Given the description of an element on the screen output the (x, y) to click on. 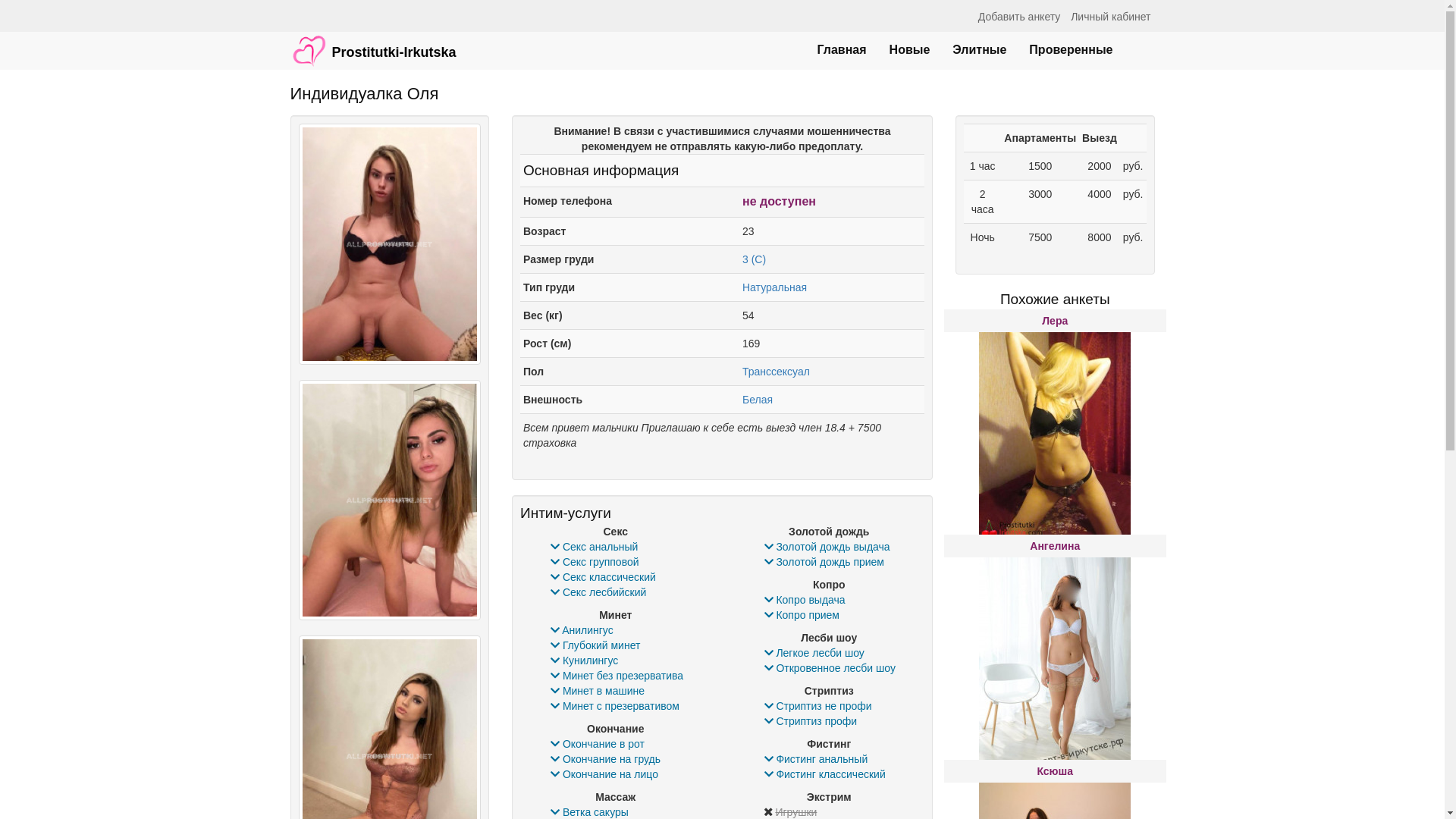
Prostitutki-Irkutska Element type: text (373, 43)
3 (C) Element type: text (753, 259)
